Given the description of an element on the screen output the (x, y) to click on. 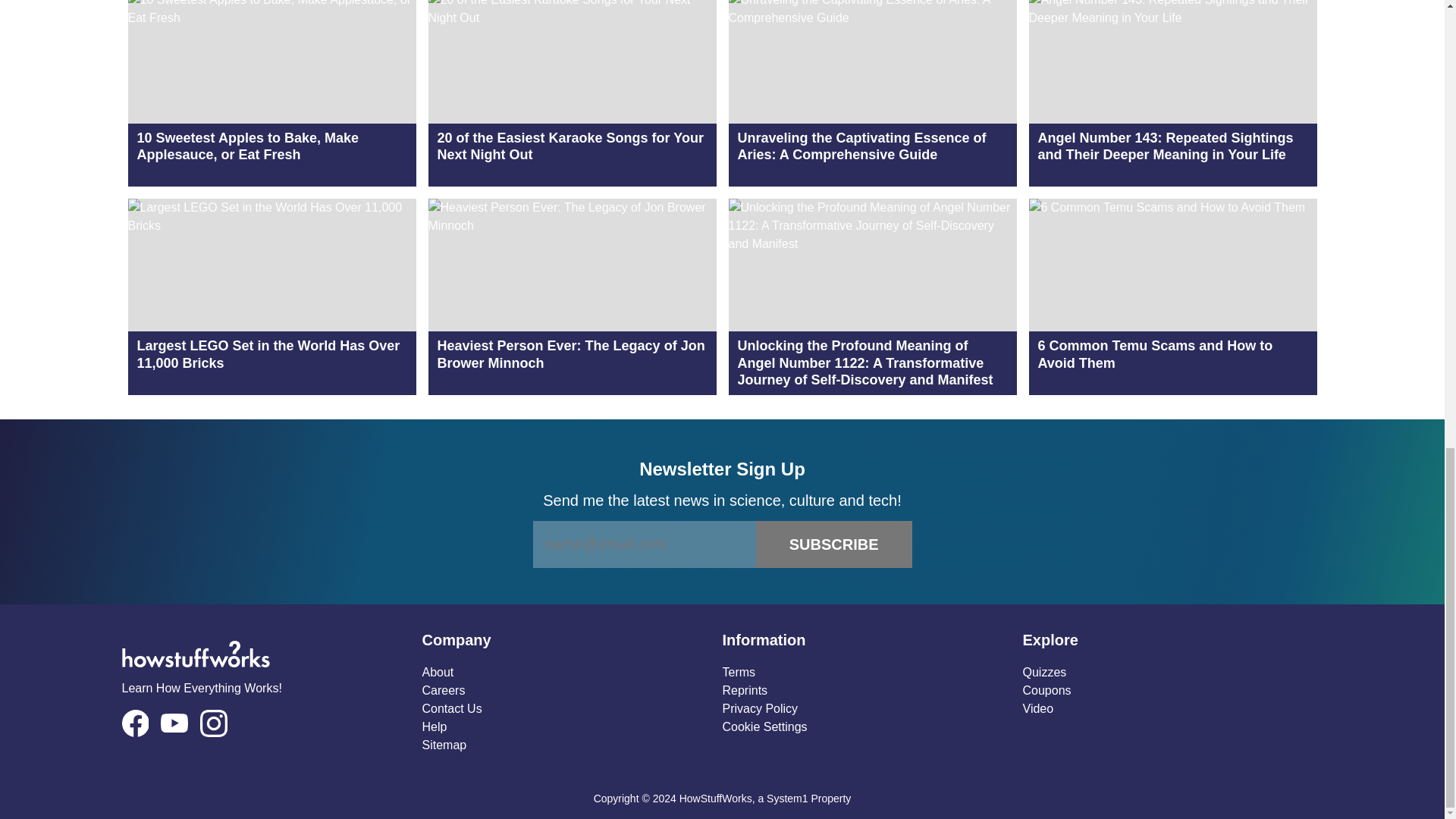
Visit HowStuffWorks on Instagram (213, 723)
Visit HowStuffWorks on Facebook (134, 723)
Subscribe (833, 544)
Visit HowStuffWorks on YouTube (173, 722)
